Given the description of an element on the screen output the (x, y) to click on. 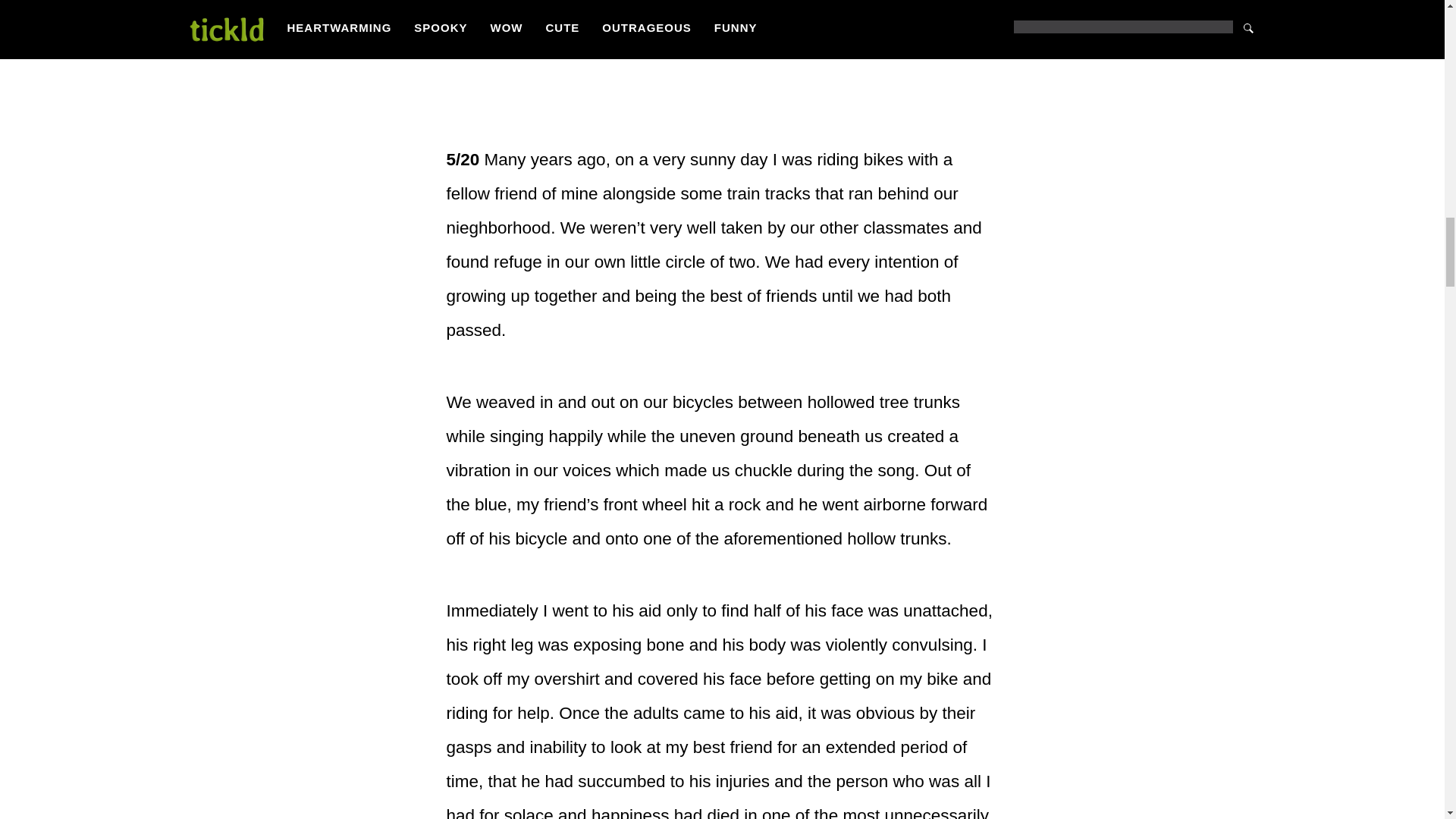
bunnielowbrow (502, 4)
